Given the description of an element on the screen output the (x, y) to click on. 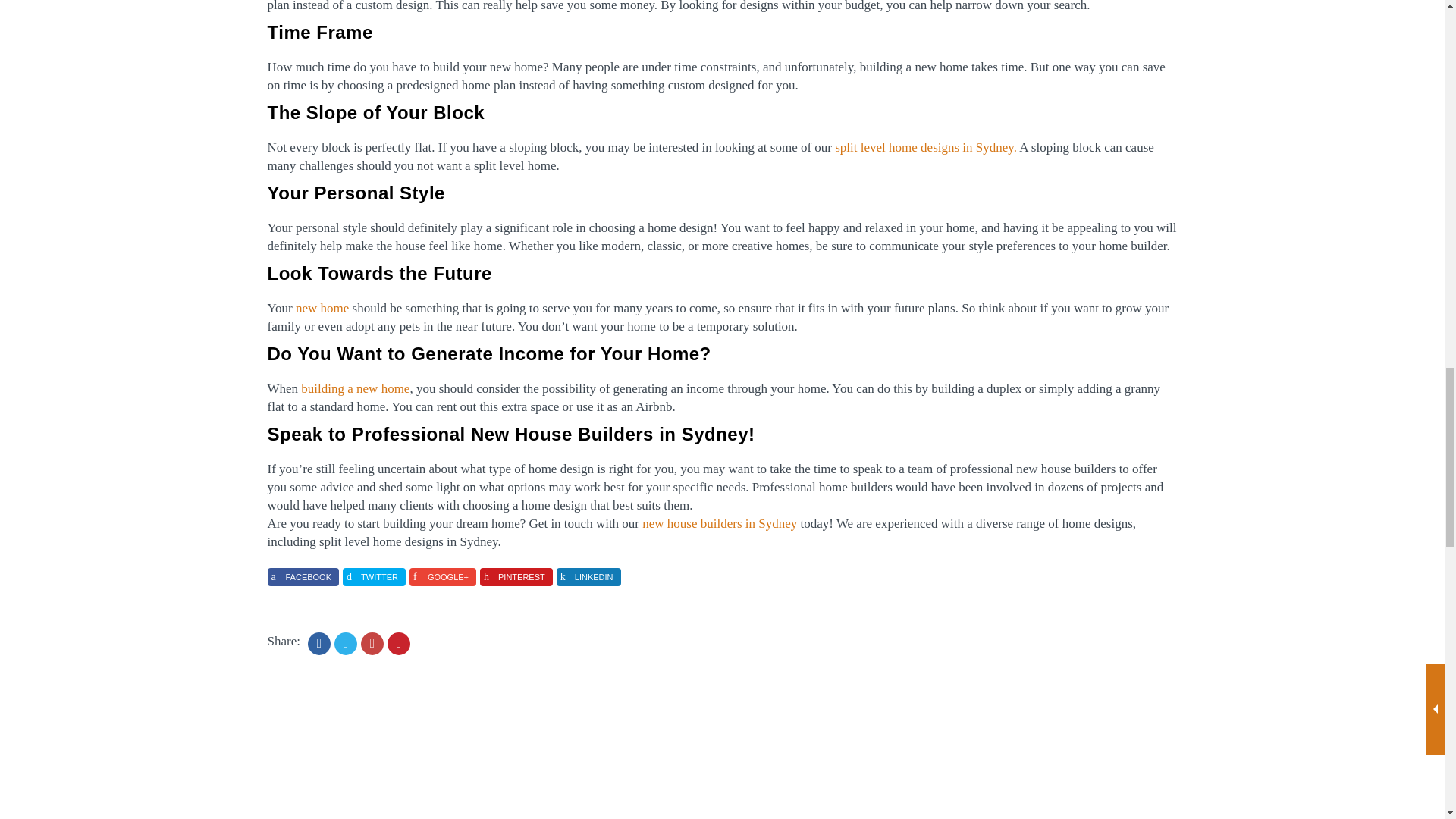
LINKEDIN (588, 577)
FACEBOOK (302, 577)
building a new home (355, 388)
PINTEREST (516, 577)
new house builders in Sydney (719, 523)
TWITTER (374, 577)
split level home designs in Sydney. (925, 147)
new home (322, 308)
